Given the description of an element on the screen output the (x, y) to click on. 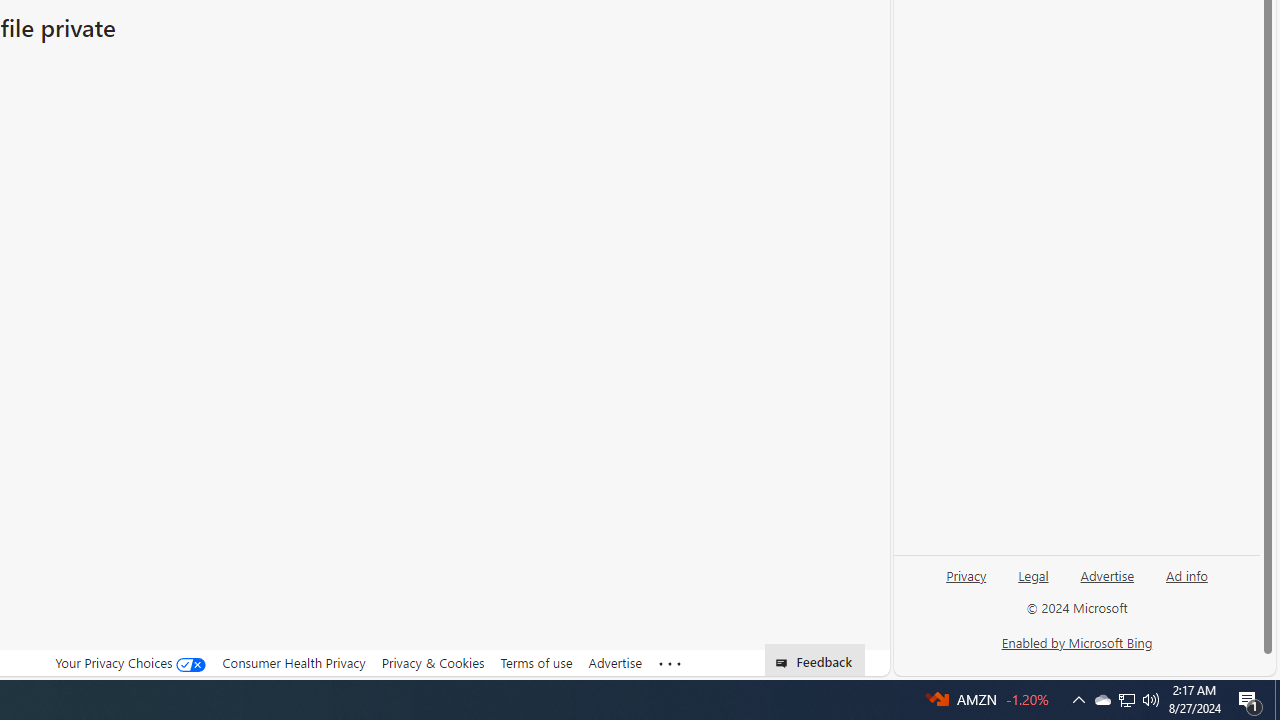
Class: feedback_link_icon-DS-EntryPoint1-1 (785, 663)
Class: oneFooter_seeMore-DS-EntryPoint1-1 (669, 663)
